Given the description of an element on the screen output the (x, y) to click on. 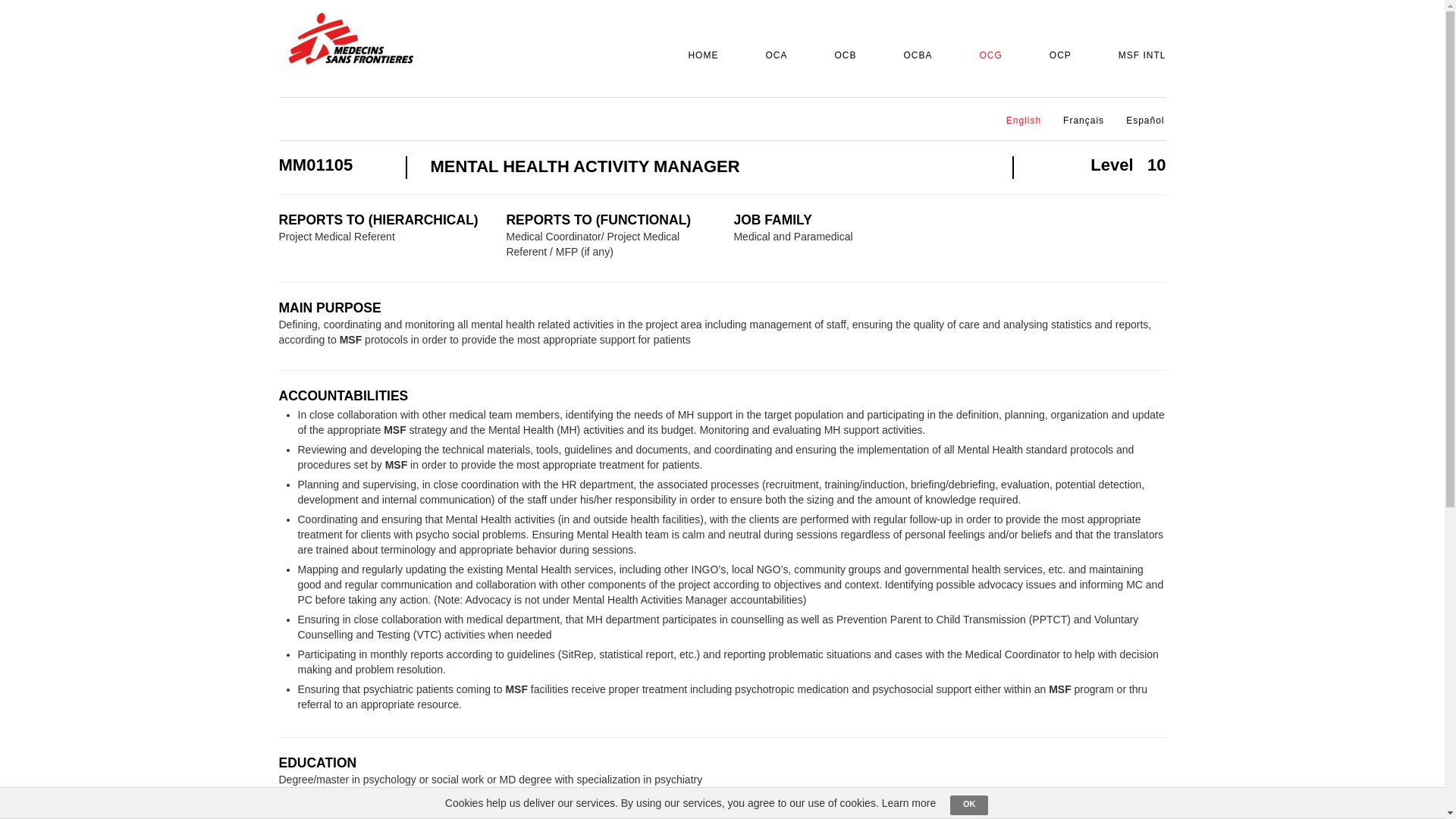
OK (969, 804)
OCB (840, 55)
OCBA (912, 55)
English (1019, 120)
HOME (697, 55)
MSF INTL (1137, 55)
OCA (771, 55)
OCP (1056, 55)
Learn more (909, 802)
OCG (985, 55)
